Given the description of an element on the screen output the (x, y) to click on. 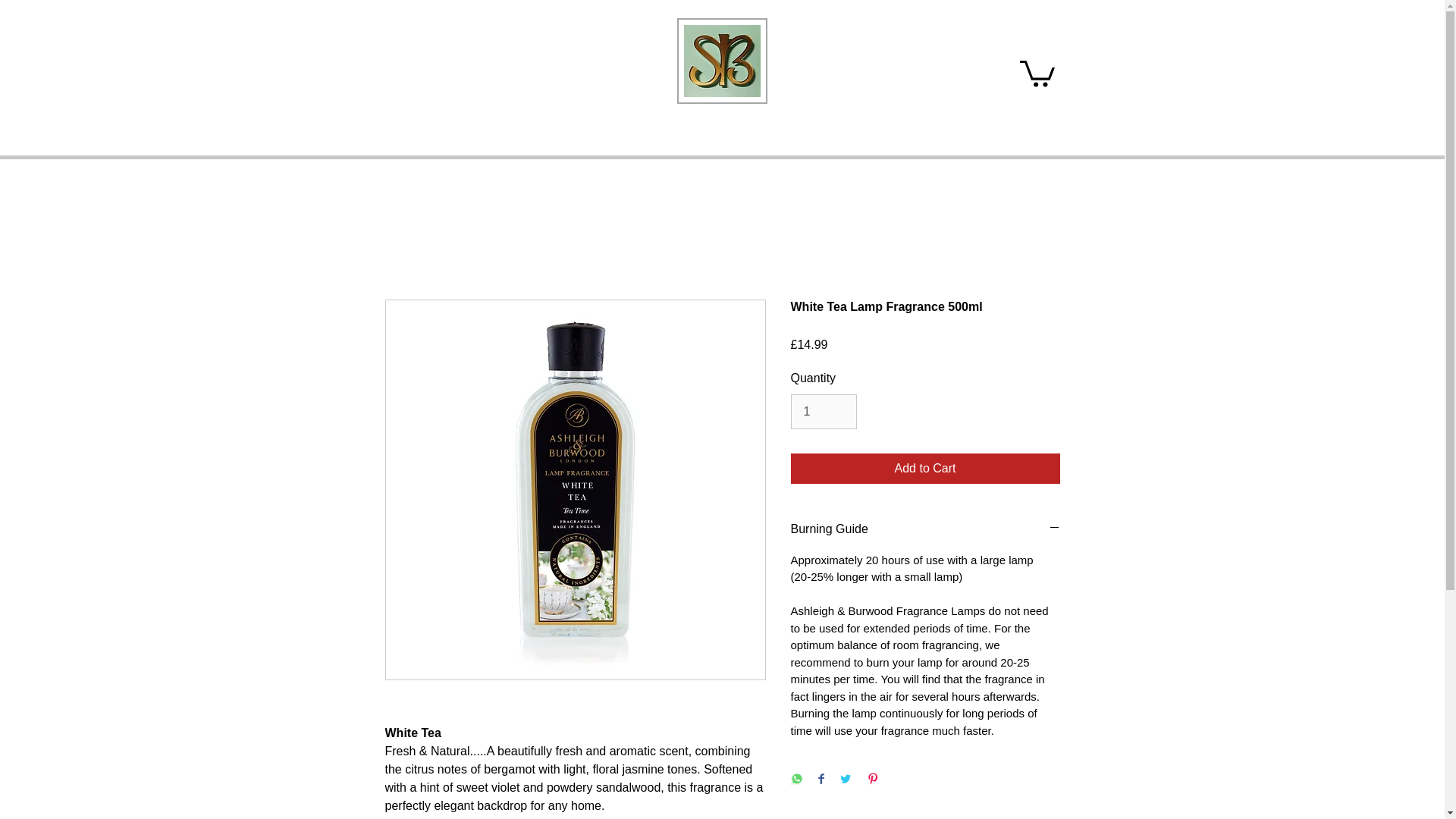
1 (823, 411)
Burning Guide (924, 529)
Add to Cart (924, 468)
